Given the description of an element on the screen output the (x, y) to click on. 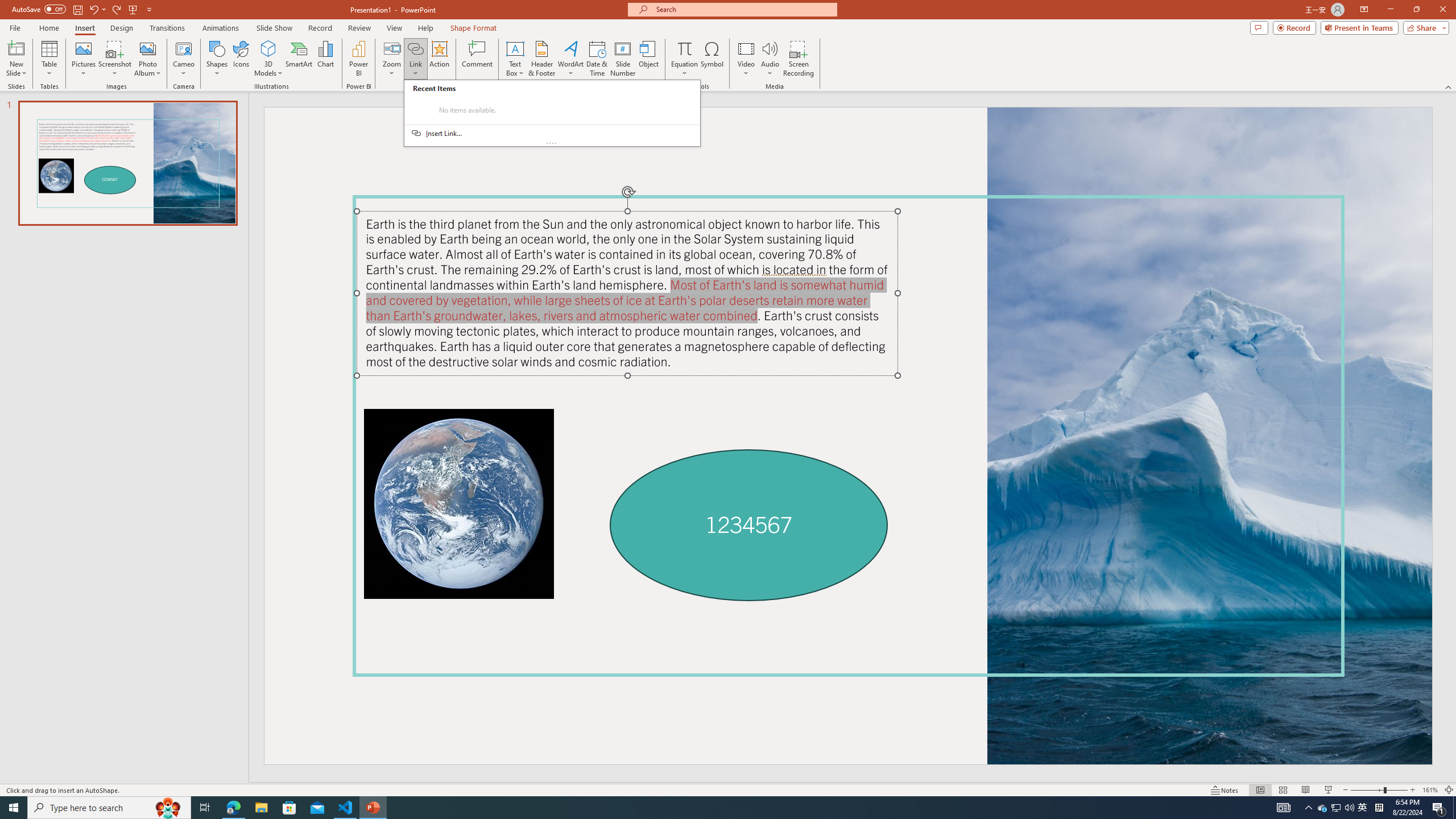
Photo Album... (147, 58)
Zoom 161% (1430, 790)
Object... (649, 58)
3D Models (268, 48)
